Given the description of an element on the screen output the (x, y) to click on. 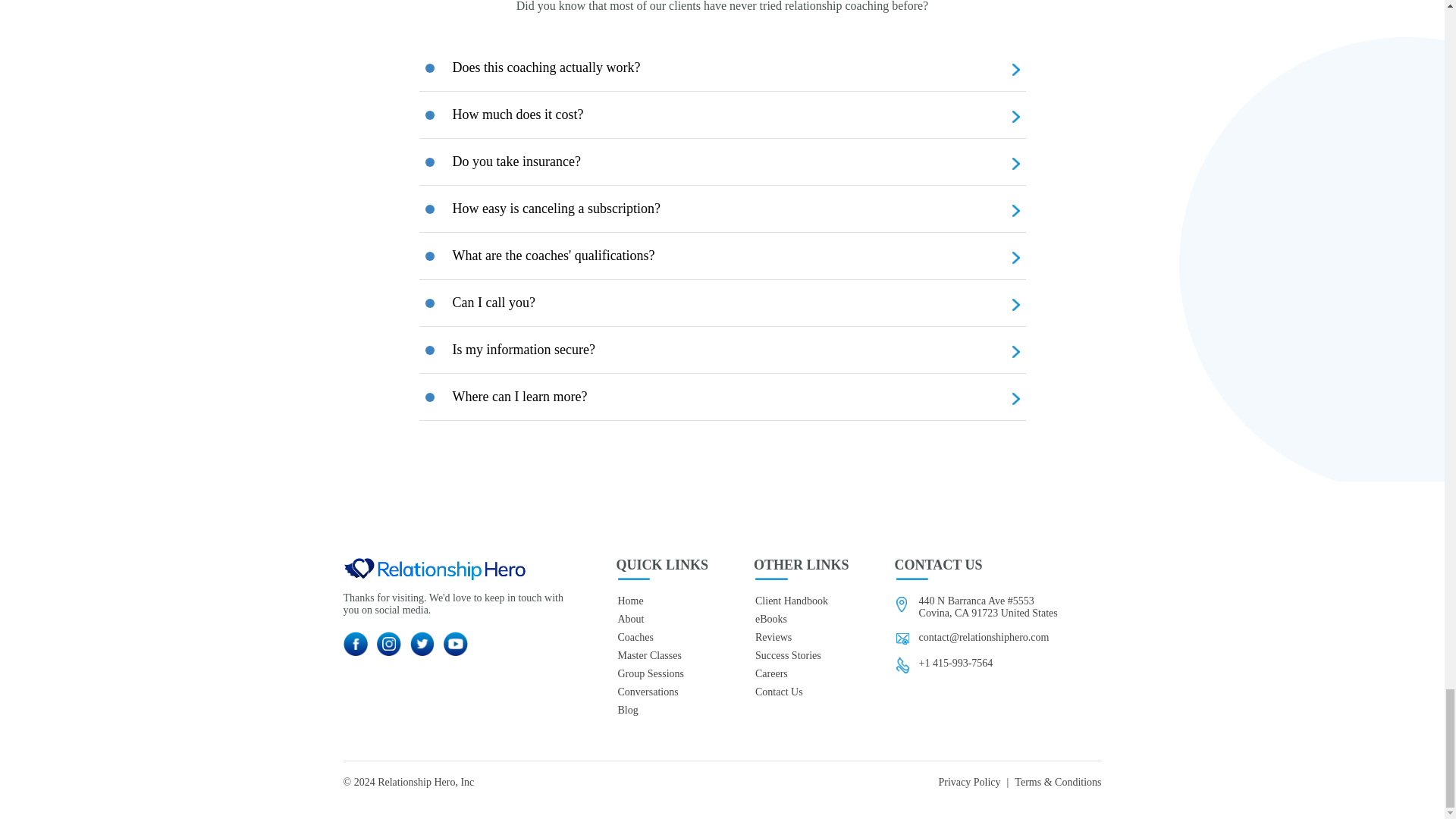
Conversations (661, 692)
Coaches (661, 637)
About (661, 619)
eBooks (801, 619)
Client Handbook (801, 601)
Home (661, 601)
Blog (661, 710)
Master Classes (661, 655)
Group Sessions (661, 674)
